Given the description of an element on the screen output the (x, y) to click on. 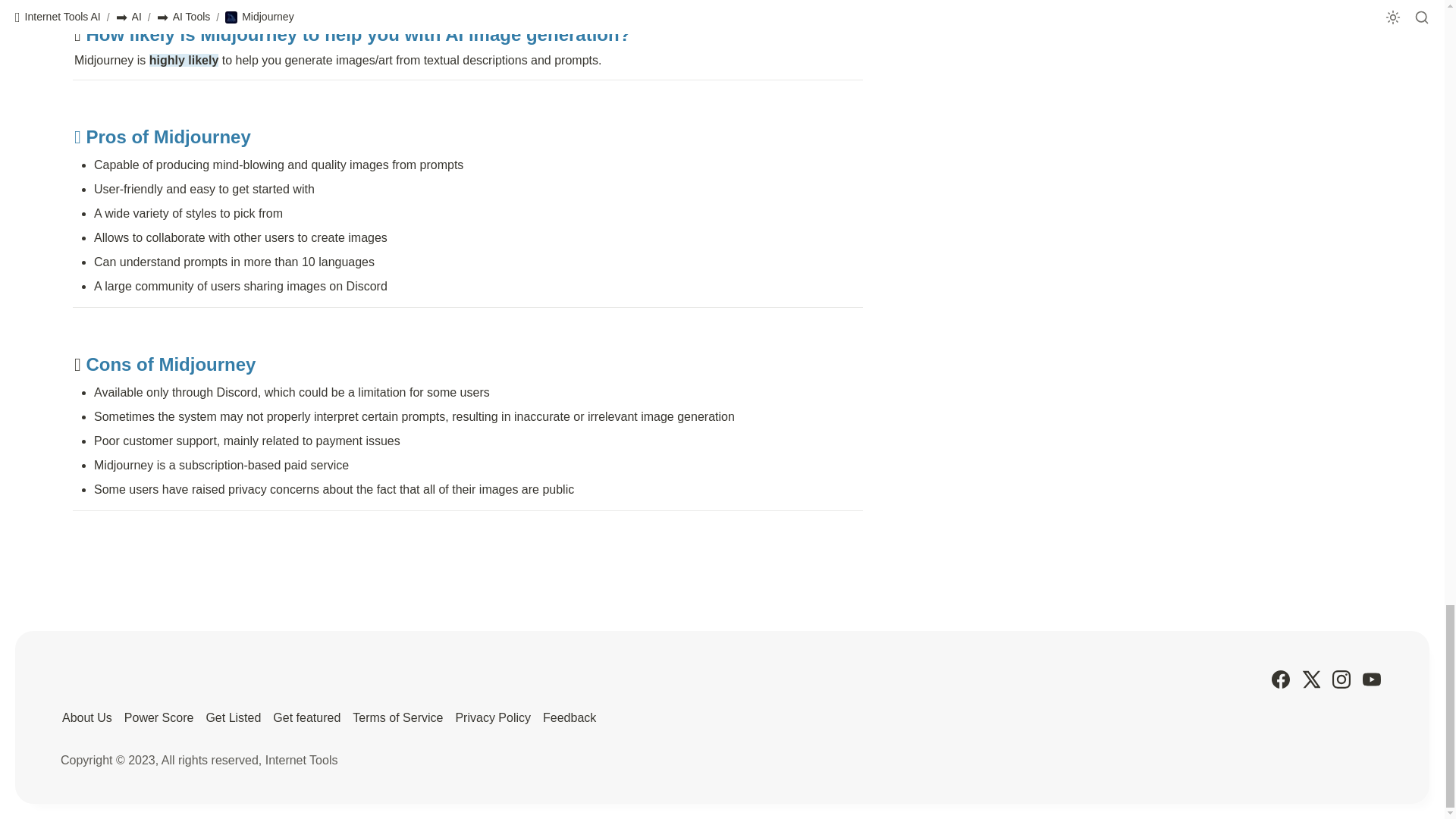
Get featured (306, 718)
Facebook (1280, 679)
Privacy Policy (492, 718)
YouTube (1371, 679)
X (1310, 679)
Instagram (1341, 679)
Instagram (1341, 679)
YouTube (1371, 679)
Feedback (568, 718)
X (1310, 679)
